Given the description of an element on the screen output the (x, y) to click on. 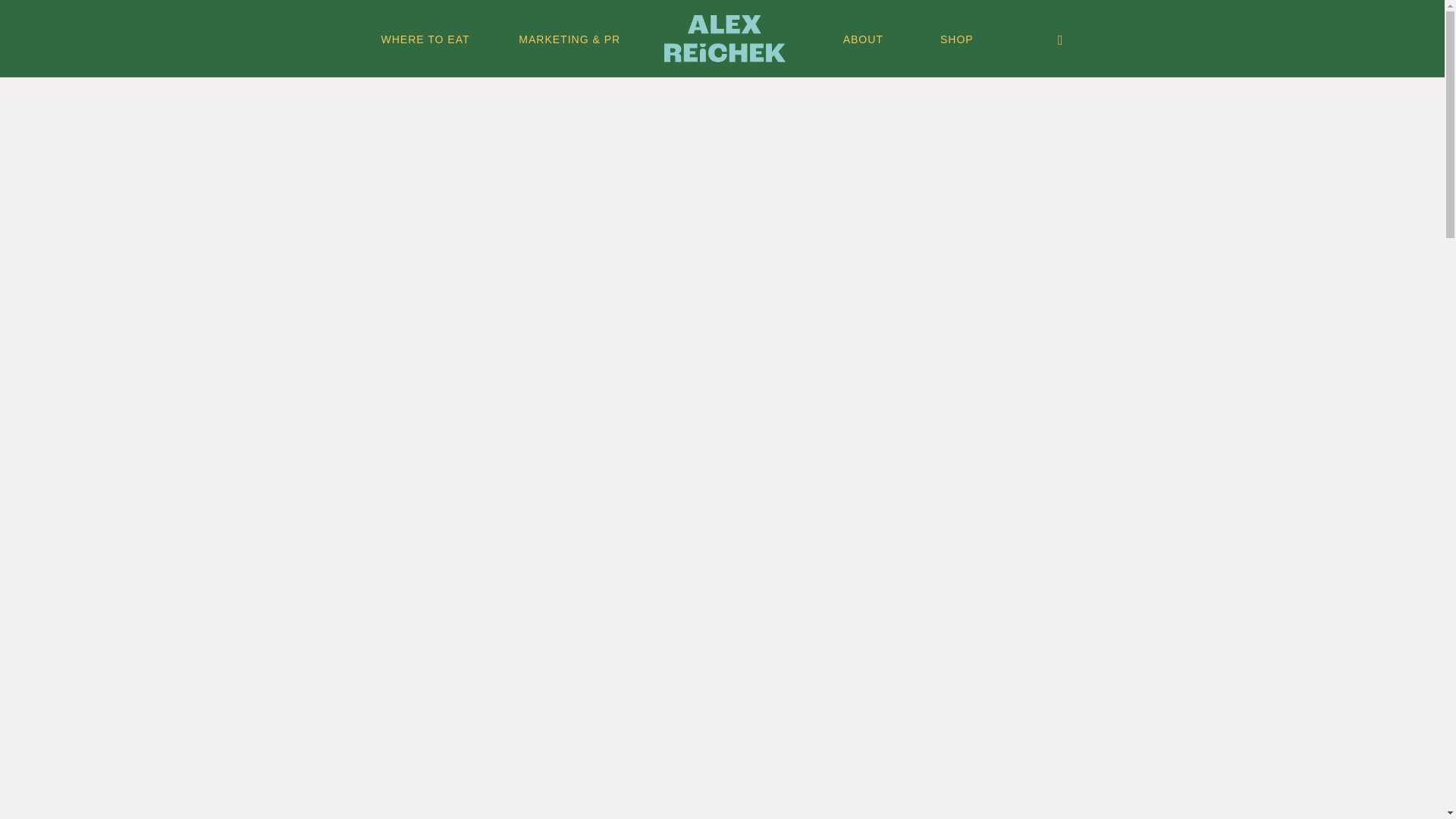
About (863, 39)
WHERE TO EAT (424, 39)
Menu Item (724, 38)
Shop (957, 39)
Where to Eat (424, 39)
SHOP (957, 39)
ABOUT (863, 39)
